Given the description of an element on the screen output the (x, y) to click on. 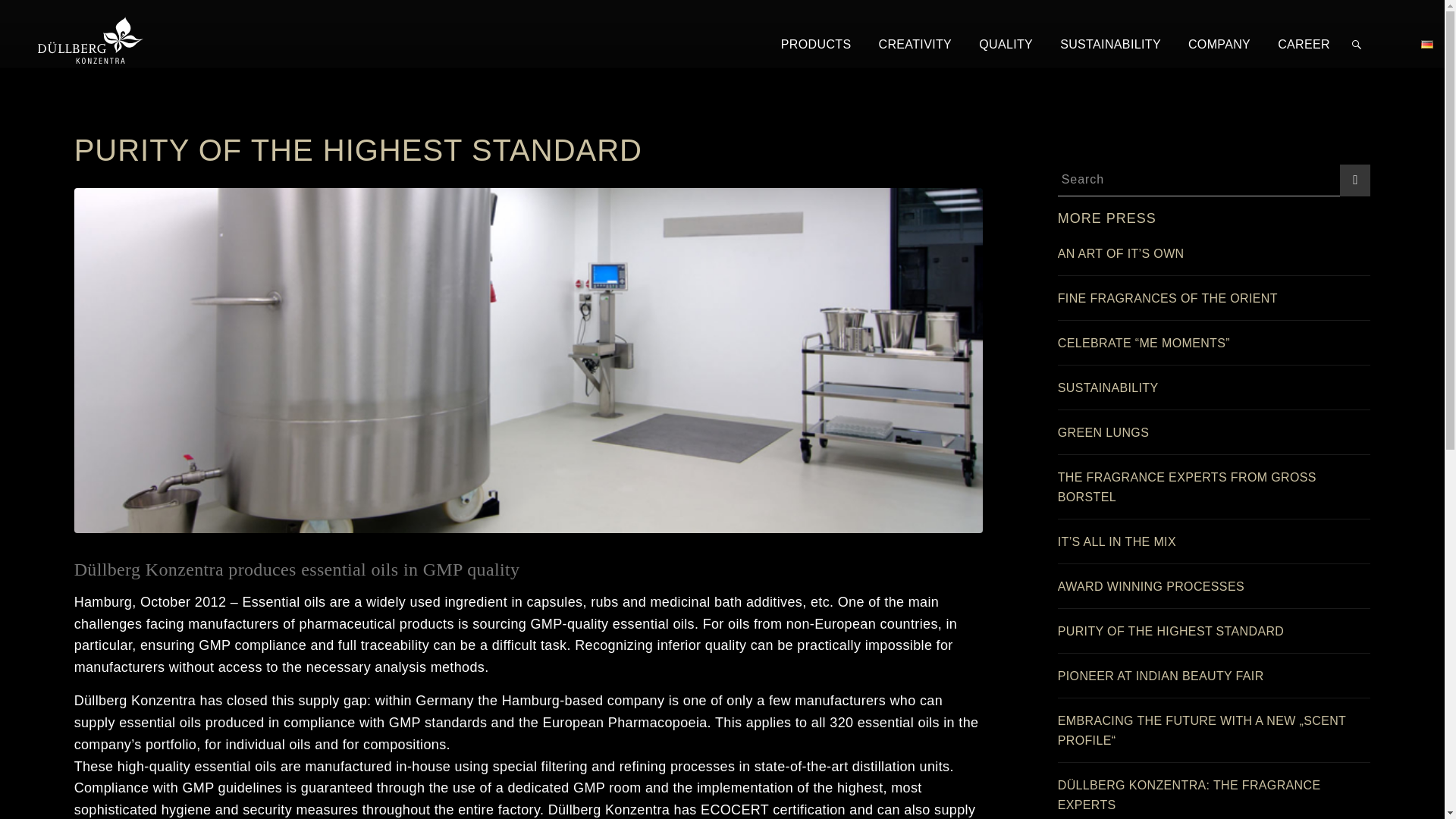
Read: Sustainability (1108, 387)
PRODUCTS (818, 44)
Read: Fine fragrances of the orient (1168, 297)
Read: The fragrance experts from Gross Borstel (1187, 486)
QUALITY (1008, 44)
CREATIVITY (917, 44)
SUSTAINABILITY (1112, 44)
COMPANY (1221, 44)
Read: Green Lungs (1103, 431)
